Given the description of an element on the screen output the (x, y) to click on. 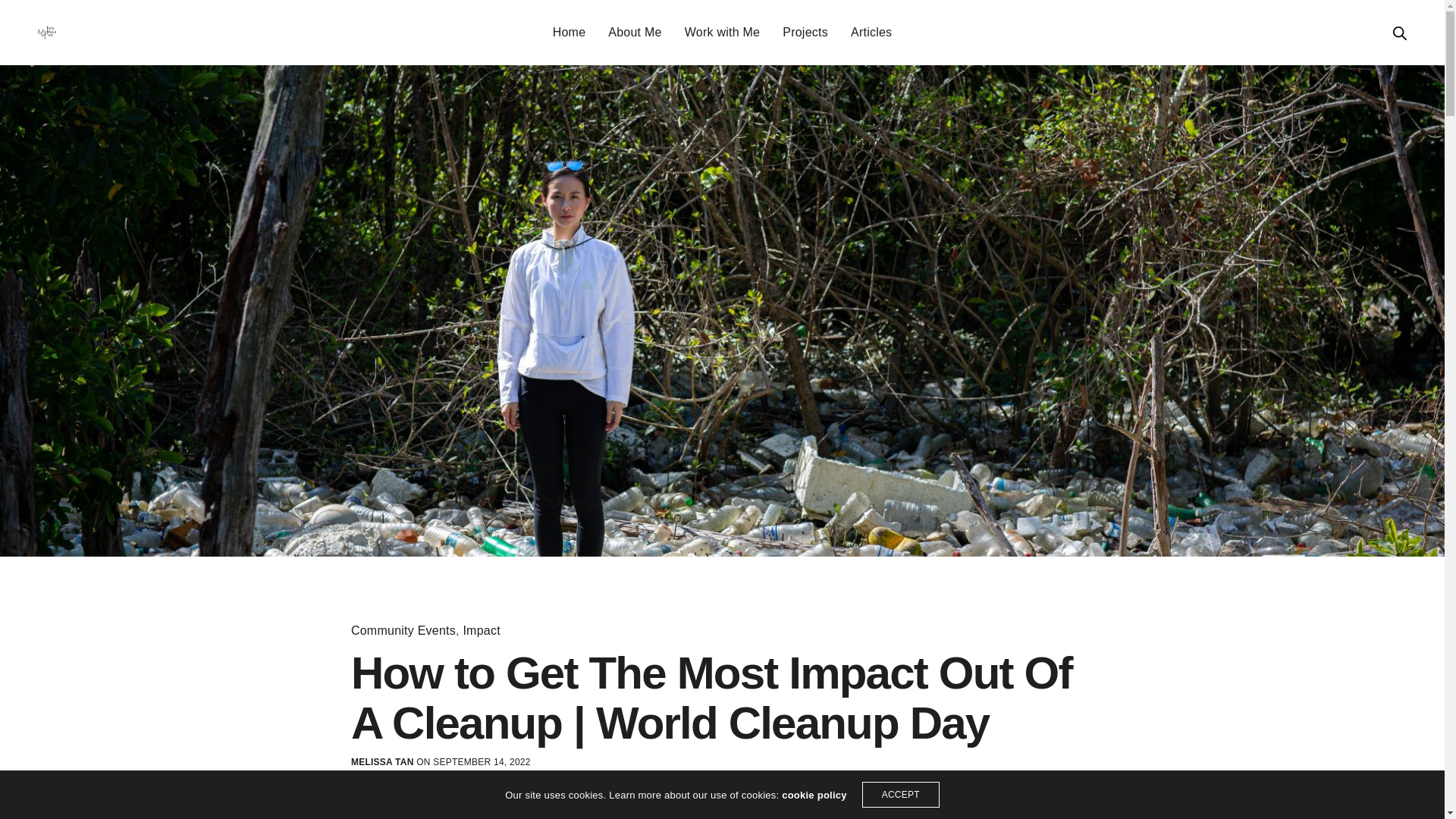
HEY MELISSA TAN (46, 32)
Online Casino Bonus Snemanje (94, 241)
Impact (481, 630)
Community Events (402, 630)
Kako Zmagati Denar V Igralnicah (106, 93)
Search (1399, 33)
Posts by Melissa Tan (381, 762)
Work with Me (722, 32)
Projects (805, 32)
